Given the description of an element on the screen output the (x, y) to click on. 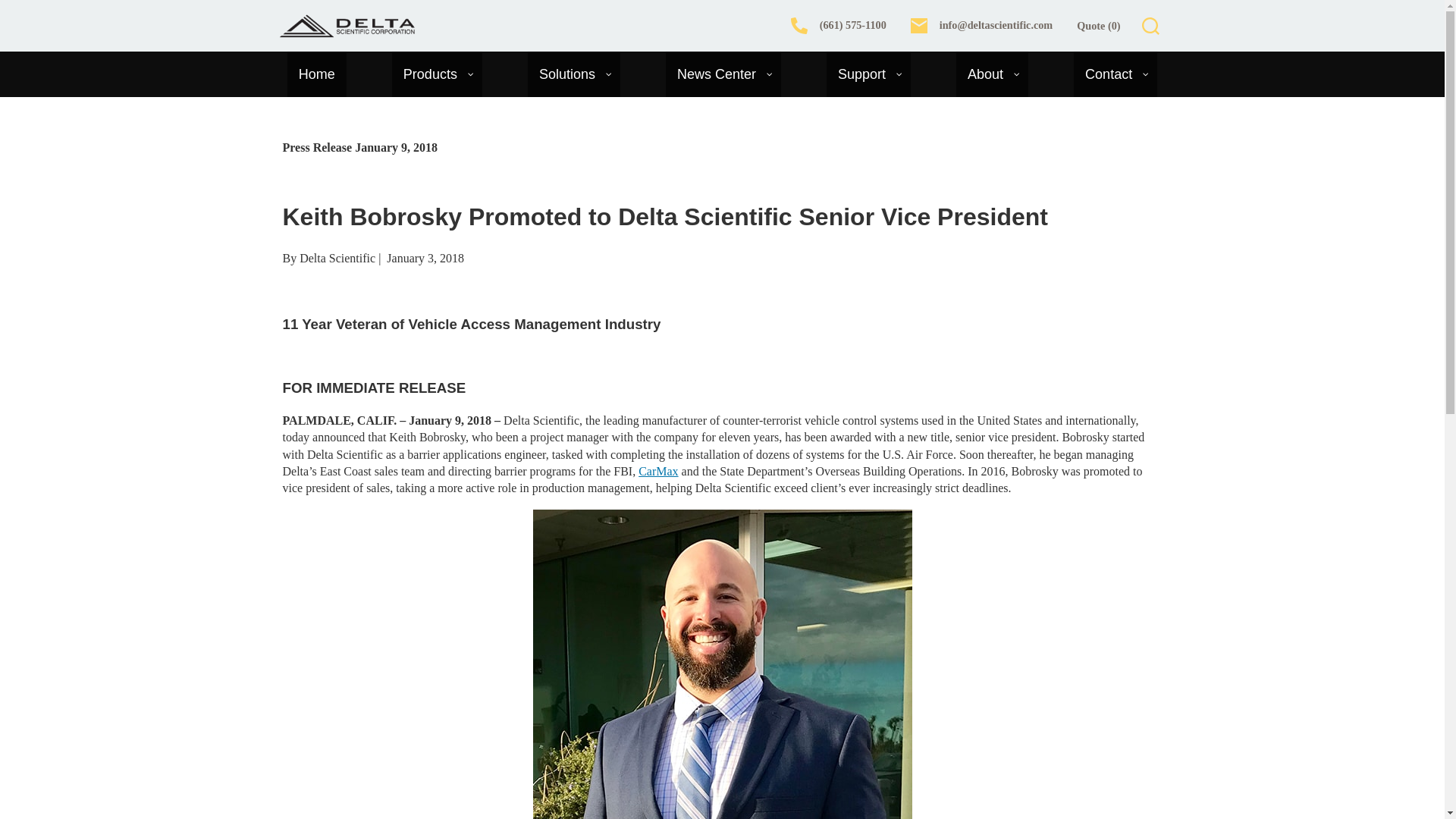
Home (316, 74)
Solutions (573, 74)
Products (436, 74)
